Given the description of an element on the screen output the (x, y) to click on. 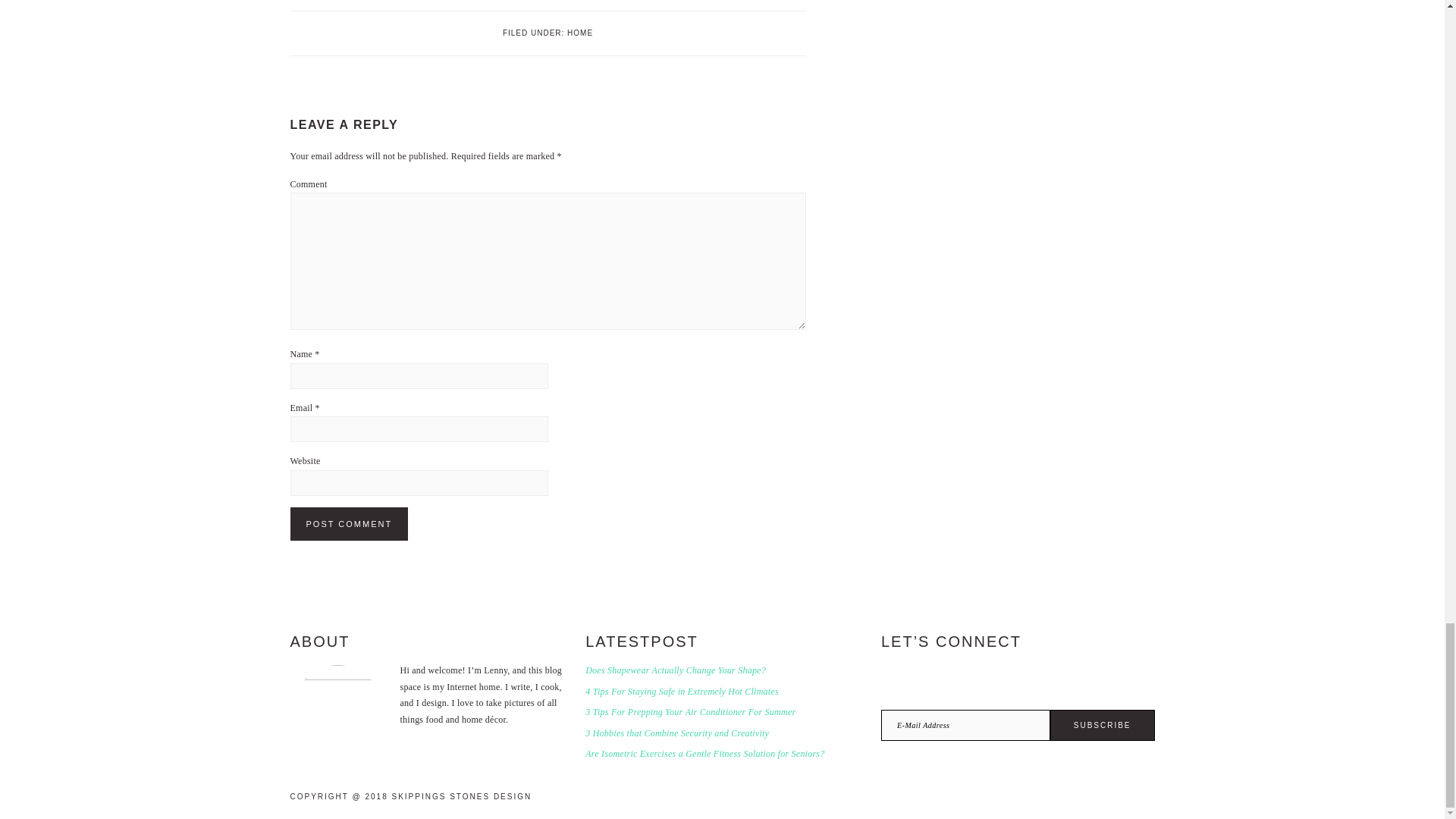
SUBSCRIBE (1101, 725)
3 Tips For Prepping Your Air Conditioner For Summer (689, 711)
Does Shapewear Actually Change Your Shape? (675, 670)
Post Comment (348, 523)
3 Hobbies that Combine Security and Creativity (676, 733)
Post Comment (348, 523)
4 Tips For Staying Safe in Extremely Hot Climates (681, 691)
HOME (579, 32)
